Given the description of an element on the screen output the (x, y) to click on. 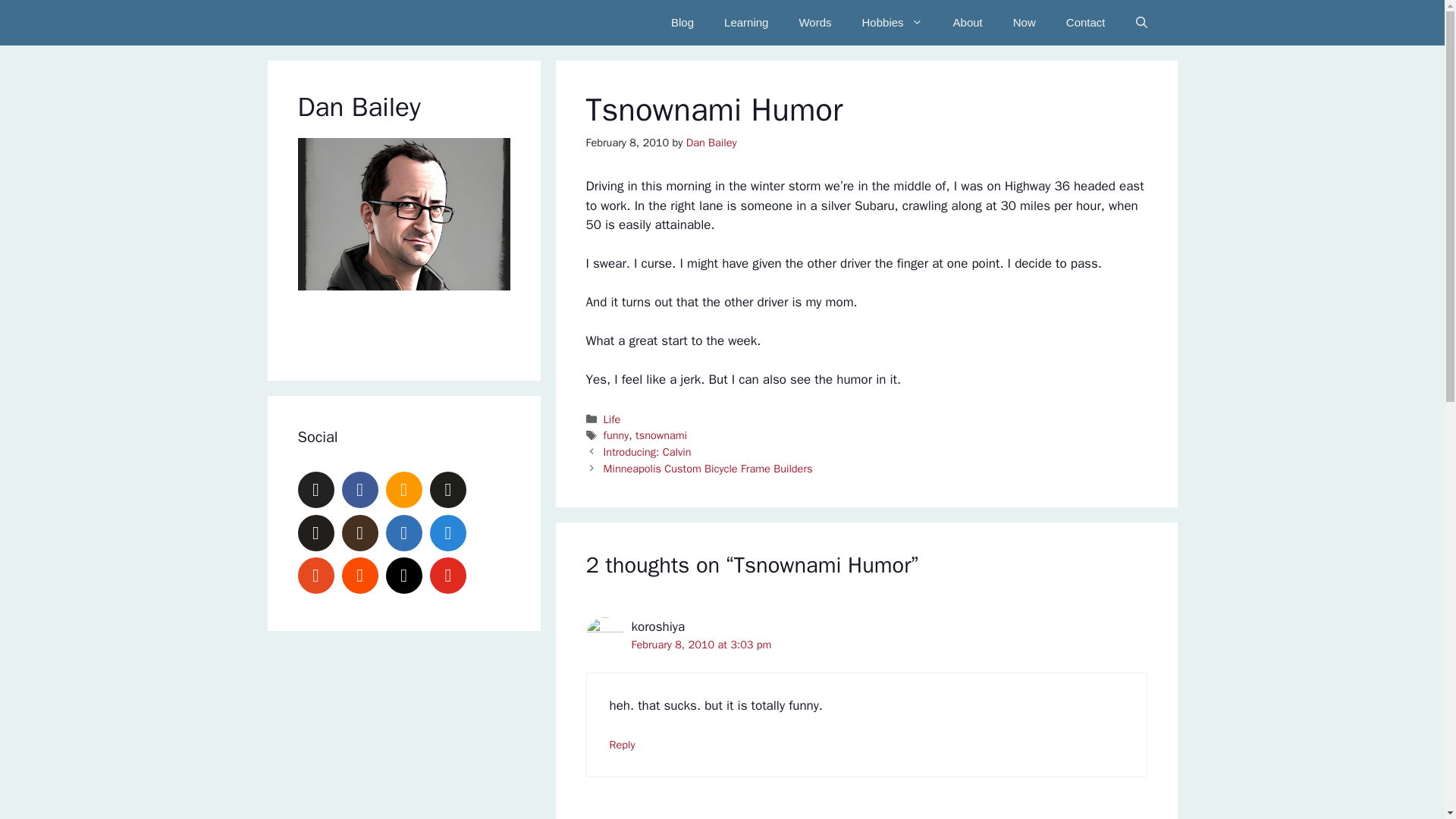
STRAVA (360, 575)
About (967, 22)
Linkedin (403, 532)
twitter (315, 489)
Introducing: Calvin (647, 451)
reddit (315, 575)
February 8, 2010 at 3:03 pm (700, 644)
facebook (360, 489)
Now (1024, 22)
Facebook (360, 489)
